Given the description of an element on the screen output the (x, y) to click on. 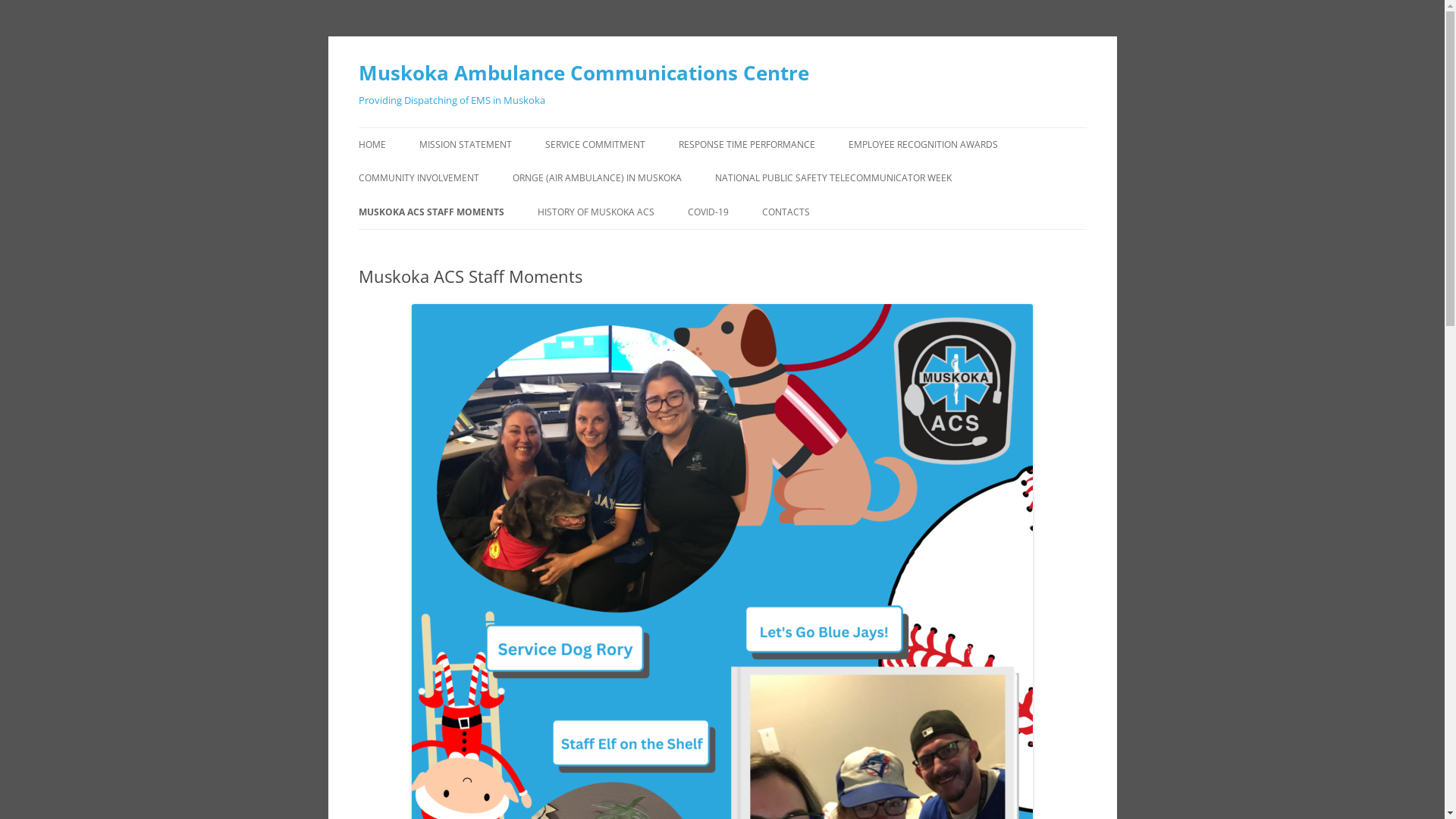
Skip to content Element type: text (721, 127)
ORNGE (AIR AMBULANCE) IN MUSKOKA Element type: text (596, 177)
MISSION STATEMENT Element type: text (464, 144)
EMPLOYEE RECOGNITION AWARDS Element type: text (922, 144)
HISTORY OF MUSKOKA ACS Element type: text (594, 212)
SERVICE COMMITMENT Element type: text (594, 144)
Muskoka Ambulance Communications Centre Element type: text (582, 72)
HOME Element type: text (371, 144)
NATIONAL PUBLIC SAFETY TELECOMMUNICATOR WEEK Element type: text (832, 177)
MOOSE FM CHRISTMAS RADIOTHON Element type: text (433, 219)
CONTACTS Element type: text (785, 212)
MUSKOKA ACS STAFF MOMENTS Element type: text (430, 212)
RESPONSE TIME PERFORMANCE Element type: text (745, 144)
COVID-19 Element type: text (707, 212)
COMMUNITY INVOLVEMENT Element type: text (417, 177)
